Given the description of an element on the screen output the (x, y) to click on. 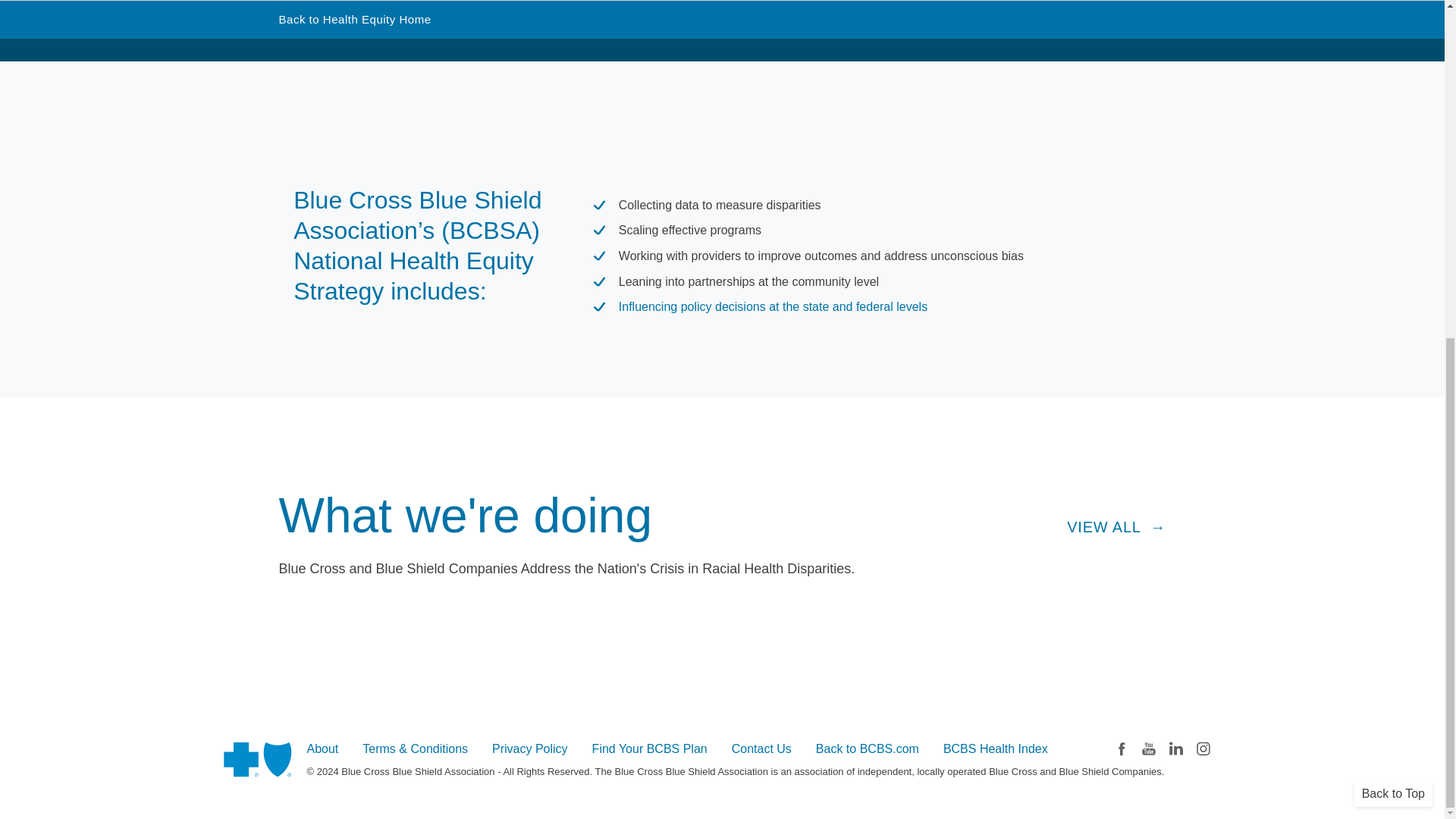
About (321, 749)
Back to BCBS.com (866, 749)
Contact Us (762, 749)
Back to Top (1393, 224)
Find Your BCBS Plan (649, 749)
BCBS Health Index (995, 749)
Youtube video player (516, 56)
Back to Top (1393, 224)
Influencing policy decisions at the state and federal levels (772, 306)
Privacy Policy (529, 749)
